Given the description of an element on the screen output the (x, y) to click on. 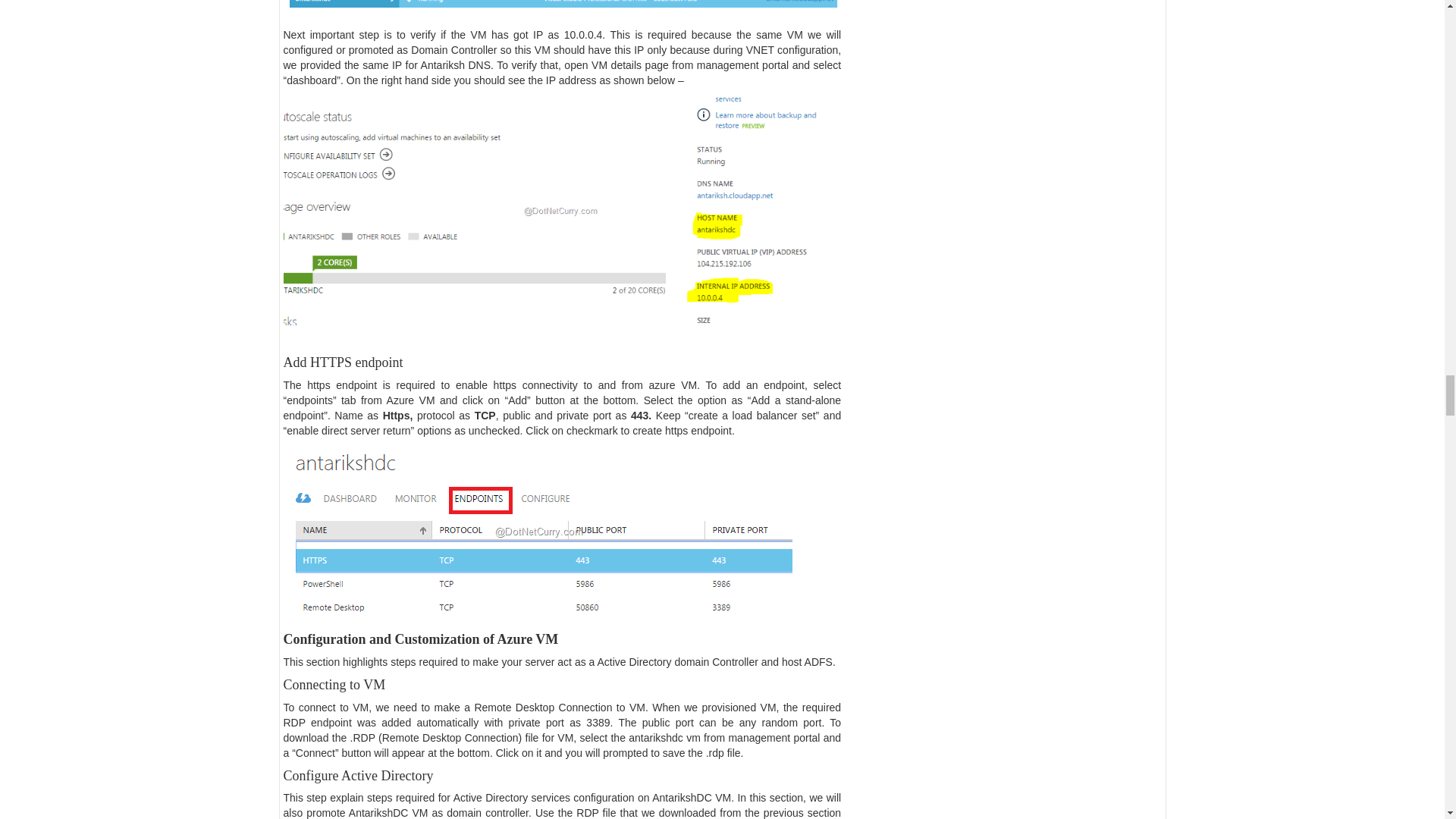
add-endpoint (540, 531)
create-vm7 (562, 210)
create-vm6 (562, 10)
